Given the description of an element on the screen output the (x, y) to click on. 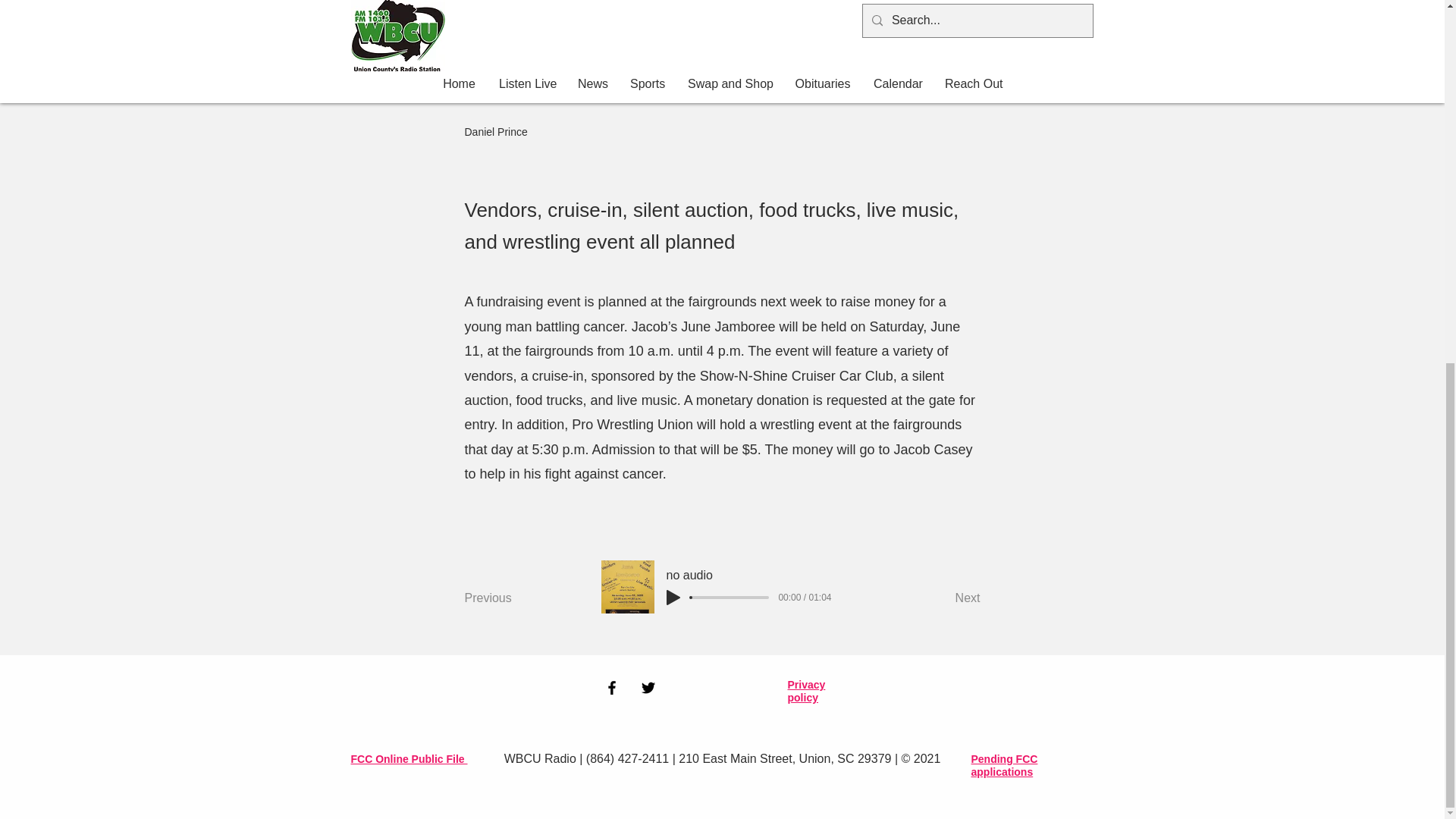
Next (941, 598)
Privacy policy (806, 691)
Previous (514, 598)
Pending FCC applications (1003, 765)
FCC Online Public File  (408, 758)
0 (729, 597)
